Given the description of an element on the screen output the (x, y) to click on. 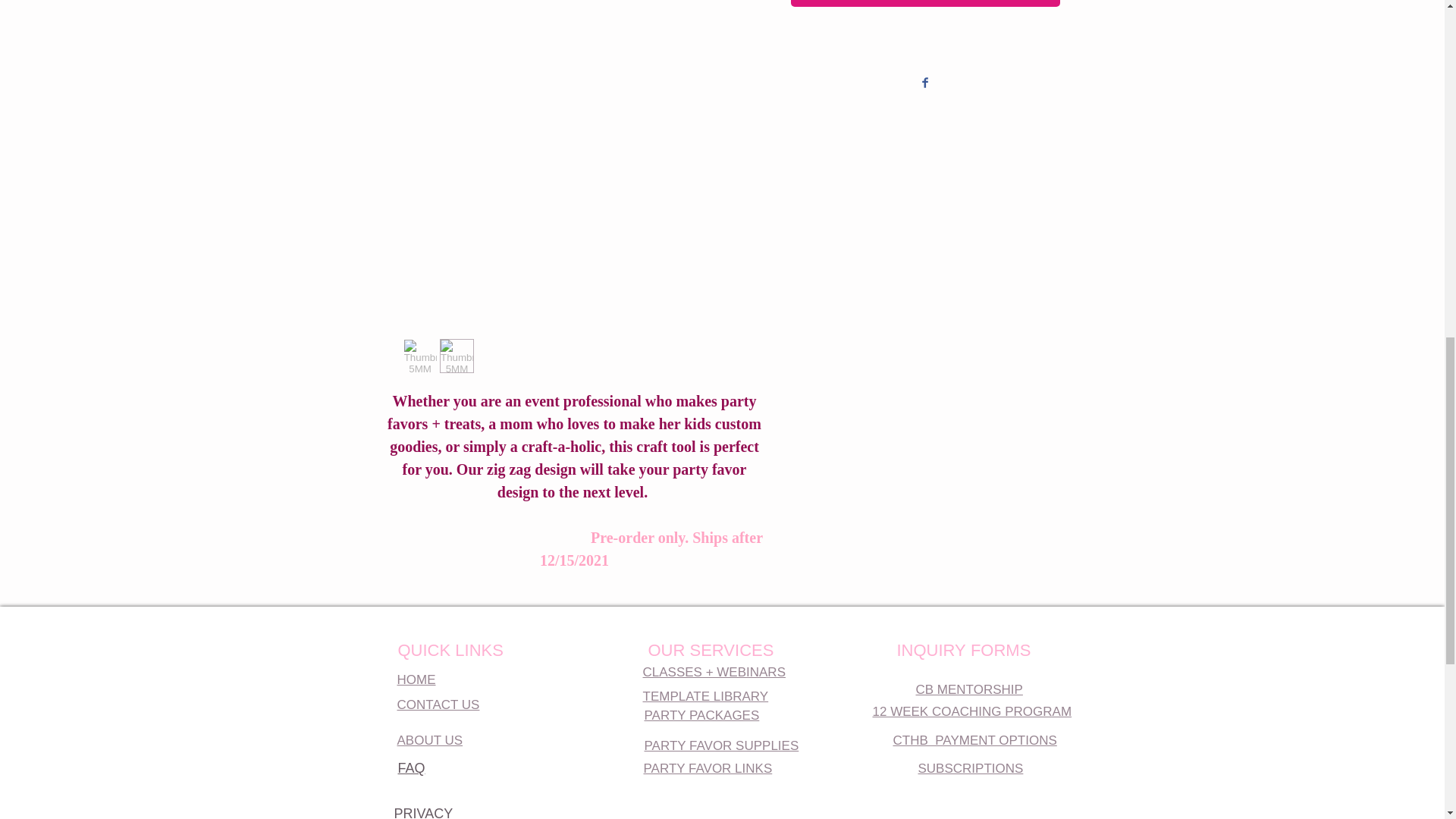
ADD TO CART (924, 3)
ABOUT US (430, 740)
HOME (416, 679)
CONTACT US (438, 704)
